Given the description of an element on the screen output the (x, y) to click on. 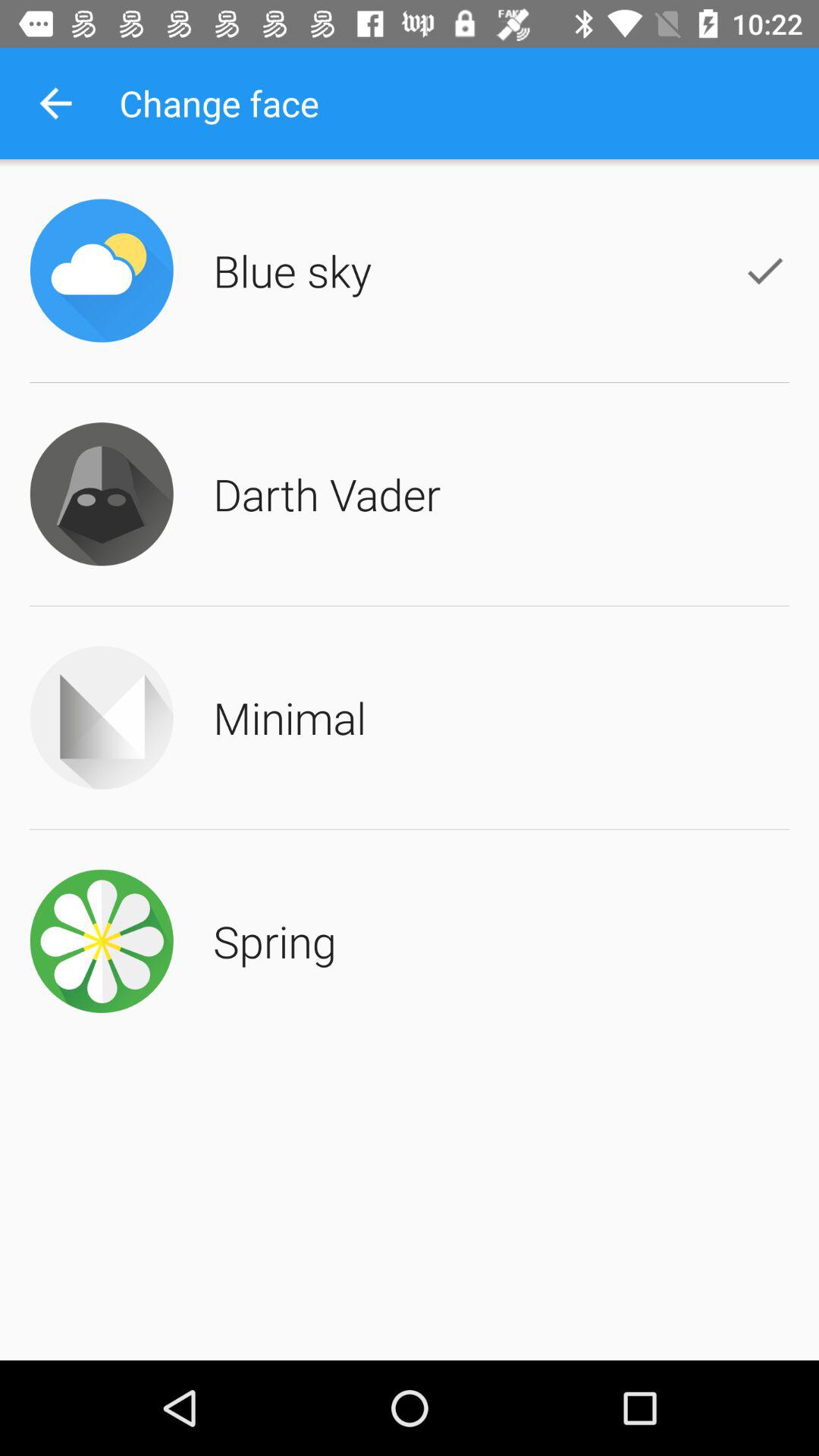
tap the darth vader (326, 493)
